Given the description of an element on the screen output the (x, y) to click on. 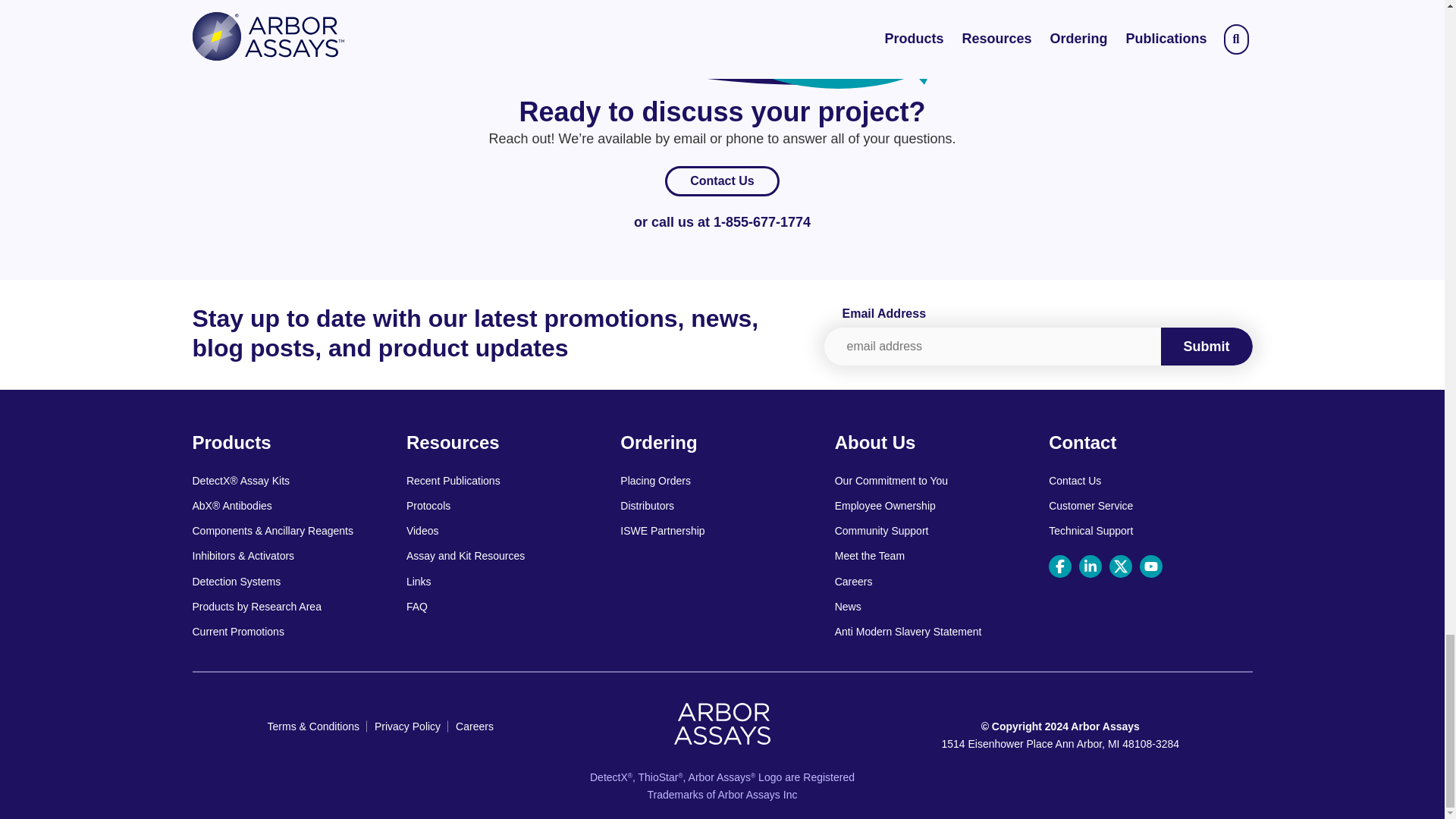
Submit (1206, 346)
